Given the description of an element on the screen output the (x, y) to click on. 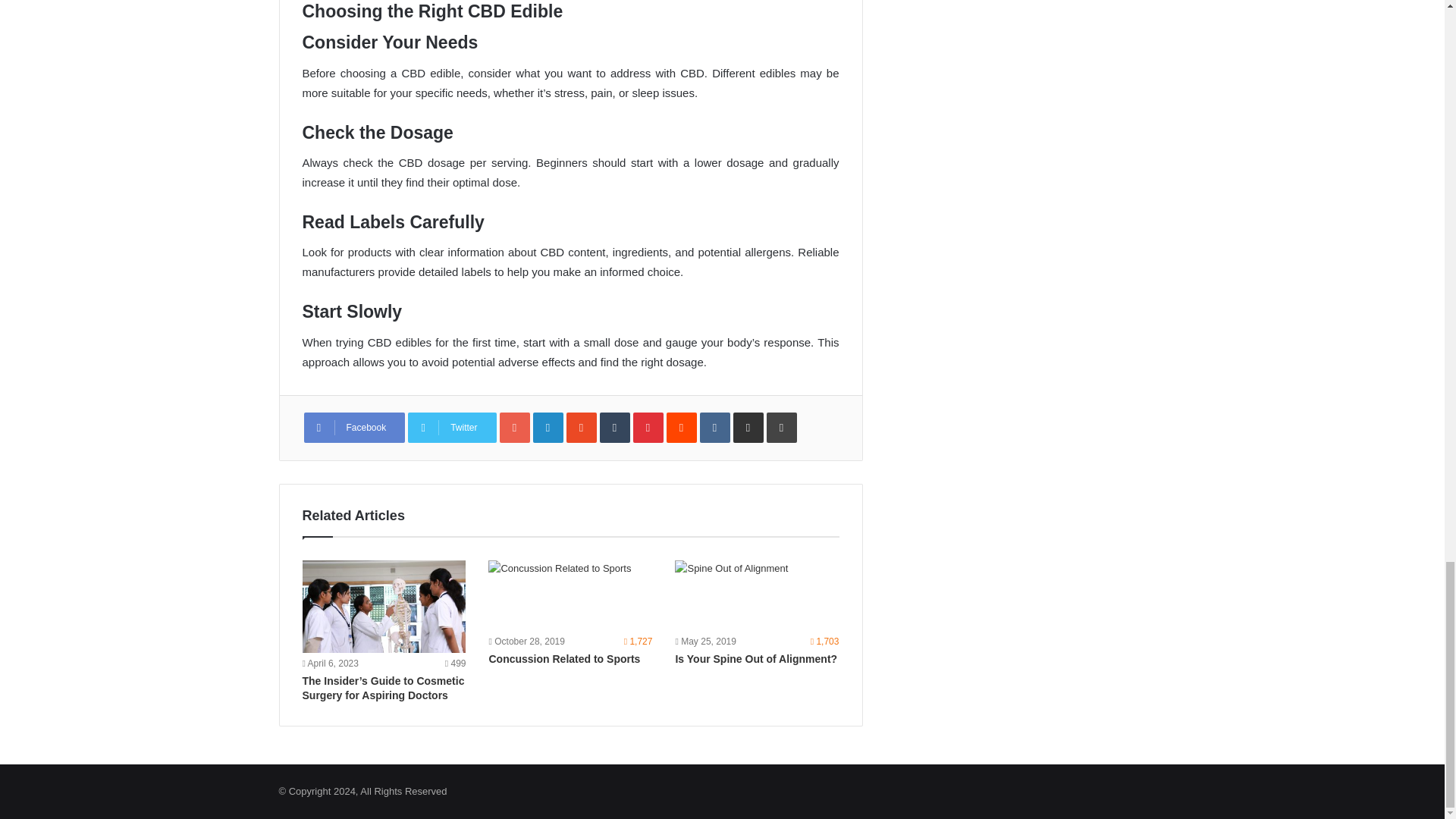
Reddit (681, 427)
Share via Email (747, 427)
Tumblr (614, 427)
Is Your Spine Out of Alignment? (756, 658)
Is Your Spine Out of Alignment? (756, 594)
Is Your Spine Out of Alignment? (756, 658)
Print (781, 427)
Concussion Related to Sports (563, 658)
Concussion Related to Sports (569, 594)
Concussion Related to Sports (563, 658)
Facebook (353, 427)
Twitter (451, 427)
Pinterest (648, 427)
StumbleUpon (581, 427)
VKontakte (715, 427)
